Given the description of an element on the screen output the (x, y) to click on. 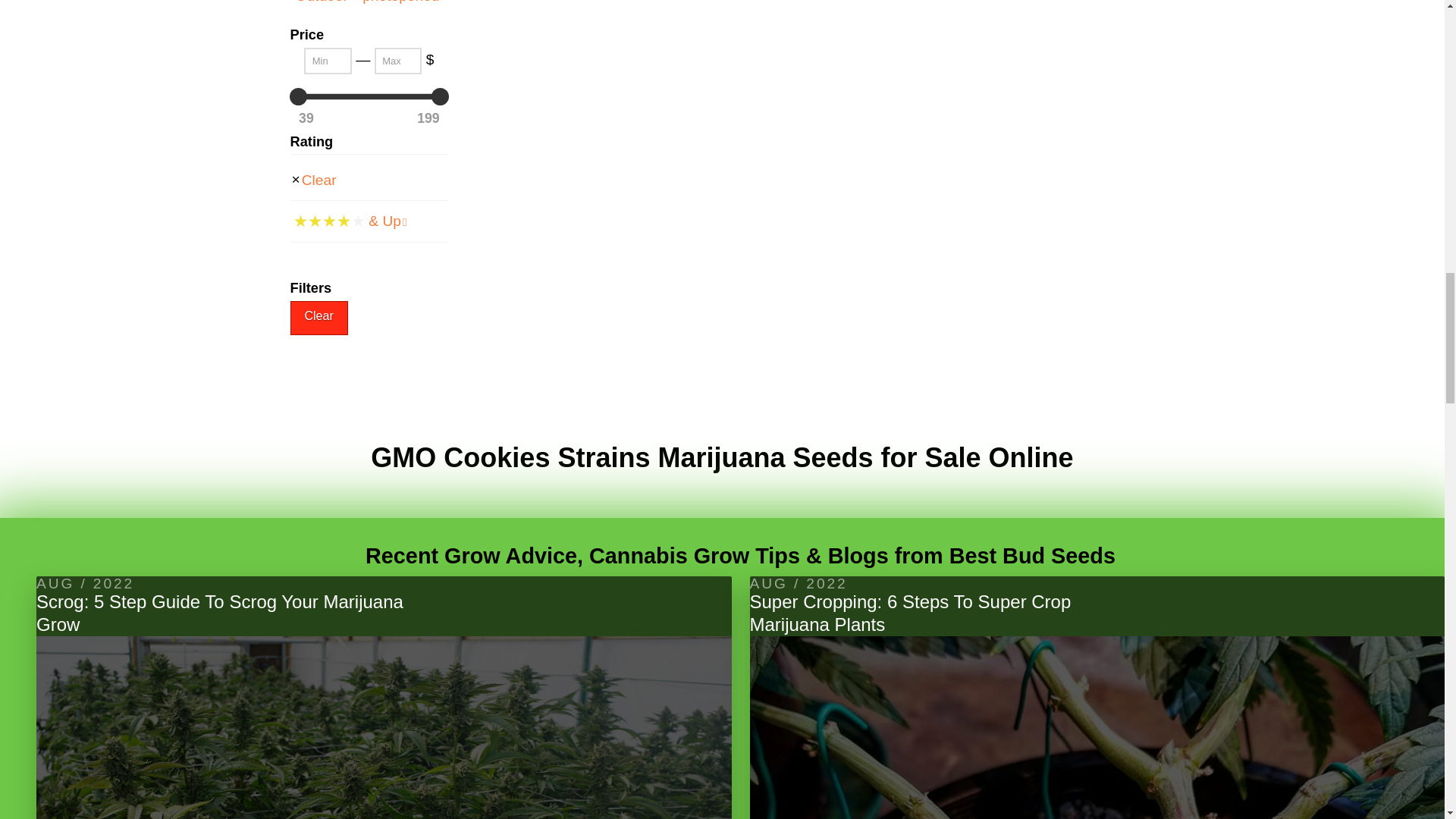
Clear (318, 179)
